Given the description of an element on the screen output the (x, y) to click on. 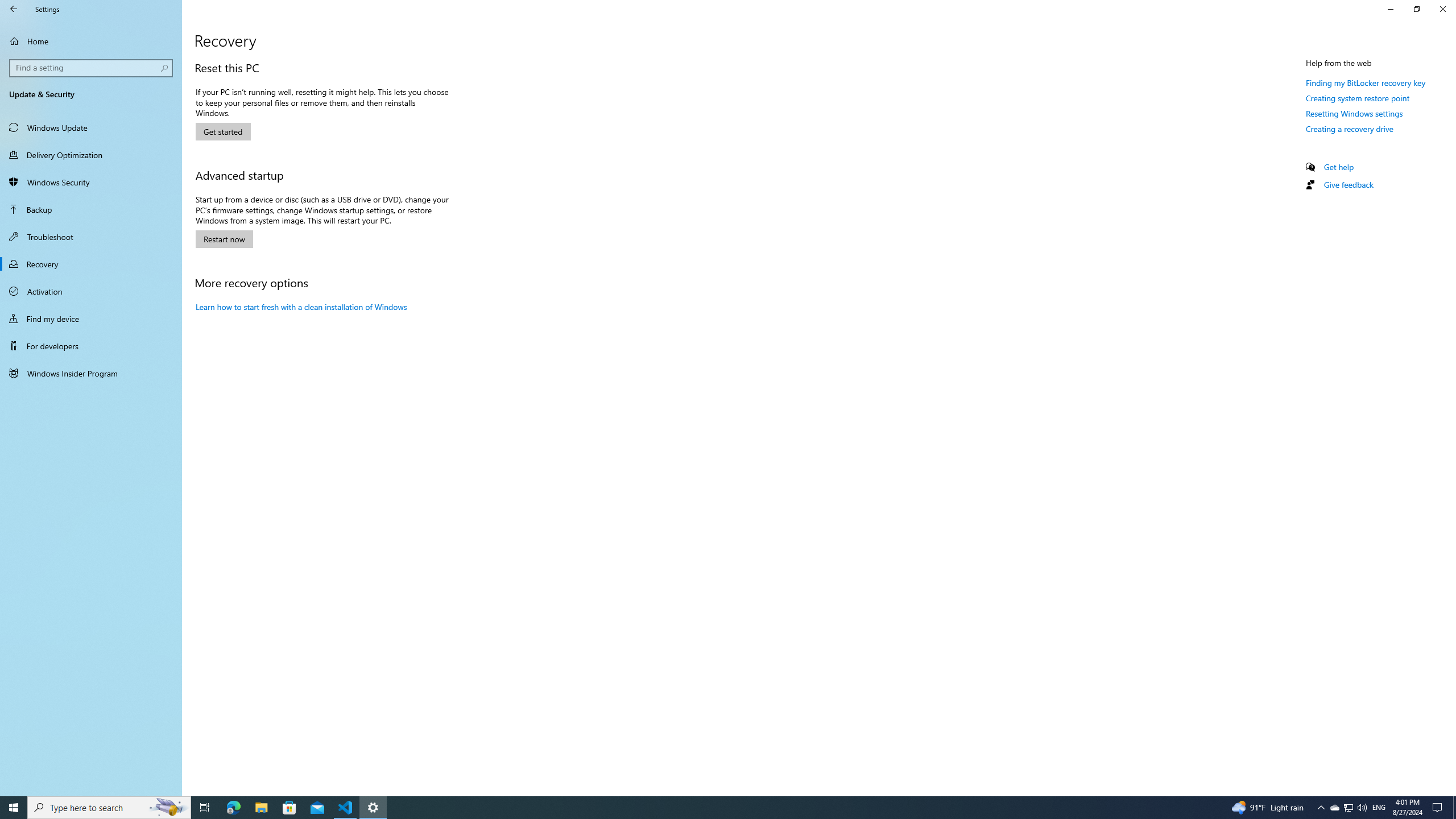
Restart now to view advanced startup options (224, 239)
Windows Insider Program (91, 372)
Get help (1338, 166)
Creating a recovery drive (1349, 128)
For developers (91, 345)
Get started with resetting this PC (222, 131)
Creating system restore point (1357, 97)
